Given the description of an element on the screen output the (x, y) to click on. 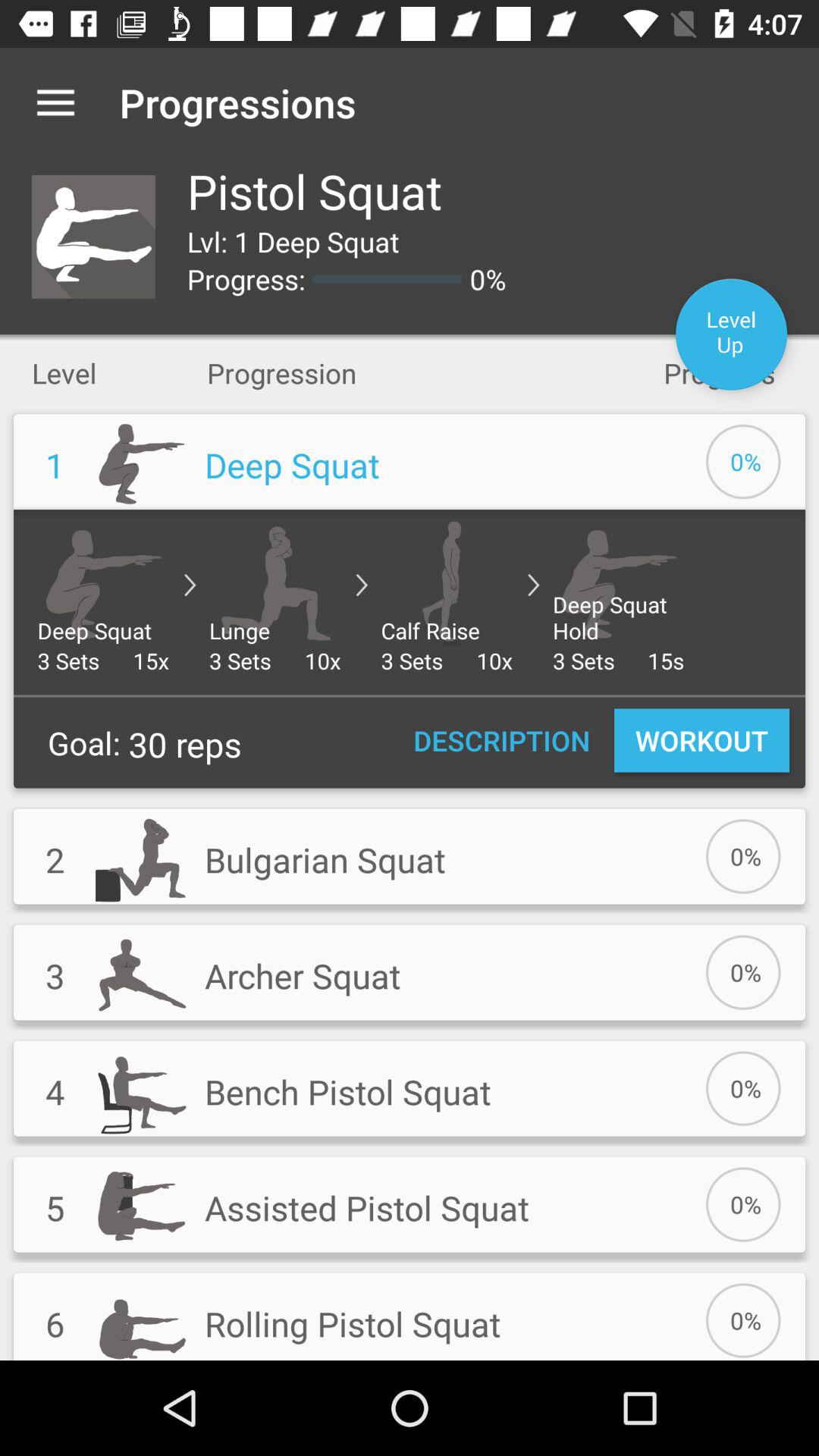
click the item next to the progressions item (55, 102)
